Given the description of an element on the screen output the (x, y) to click on. 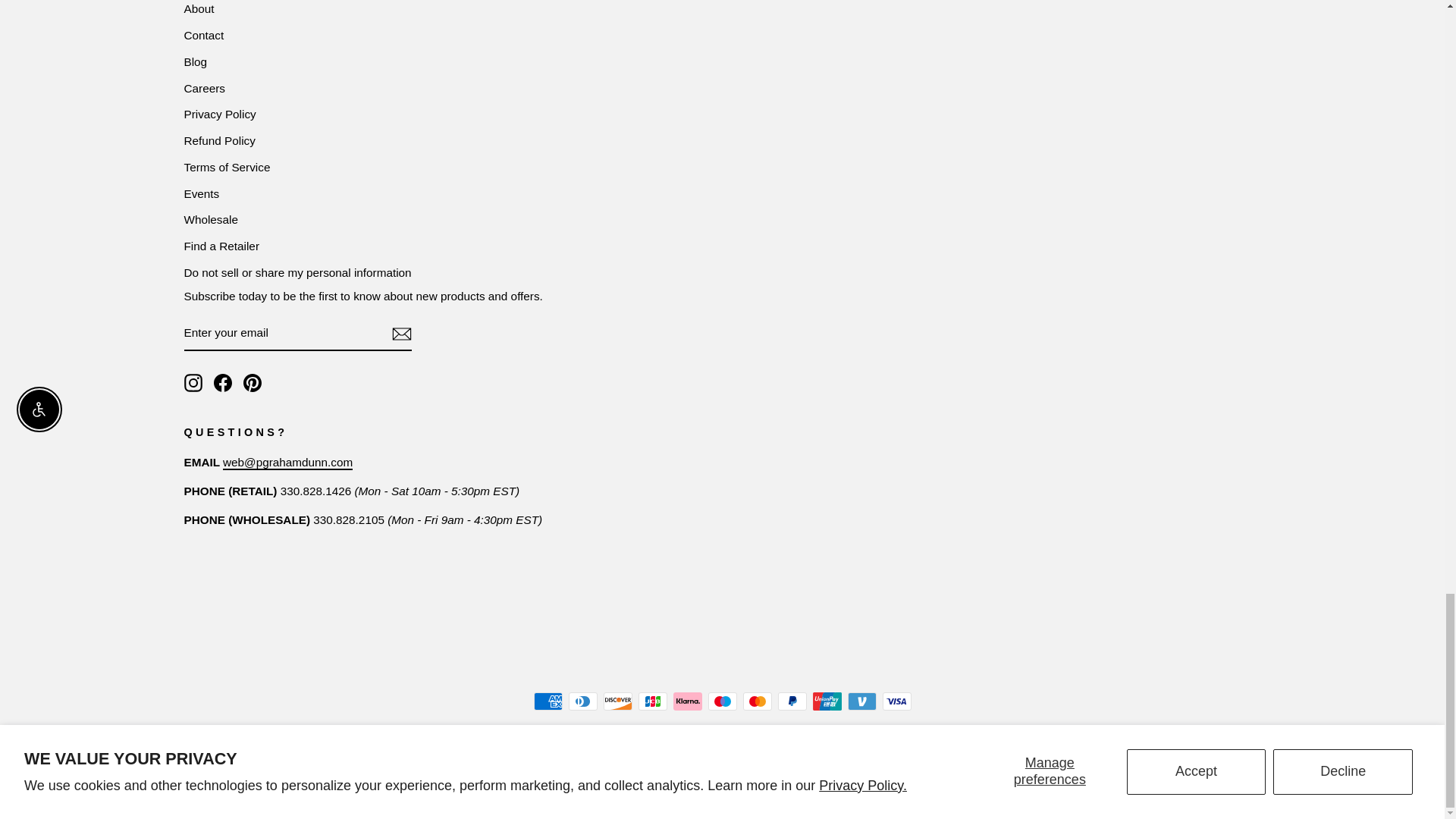
P. Graham Dunn on Facebook (222, 382)
P. Graham Dunn on Instagram (192, 382)
P. Graham Dunn on Pinterest (251, 382)
icon-email (400, 334)
instagram (192, 382)
